Given the description of an element on the screen output the (x, y) to click on. 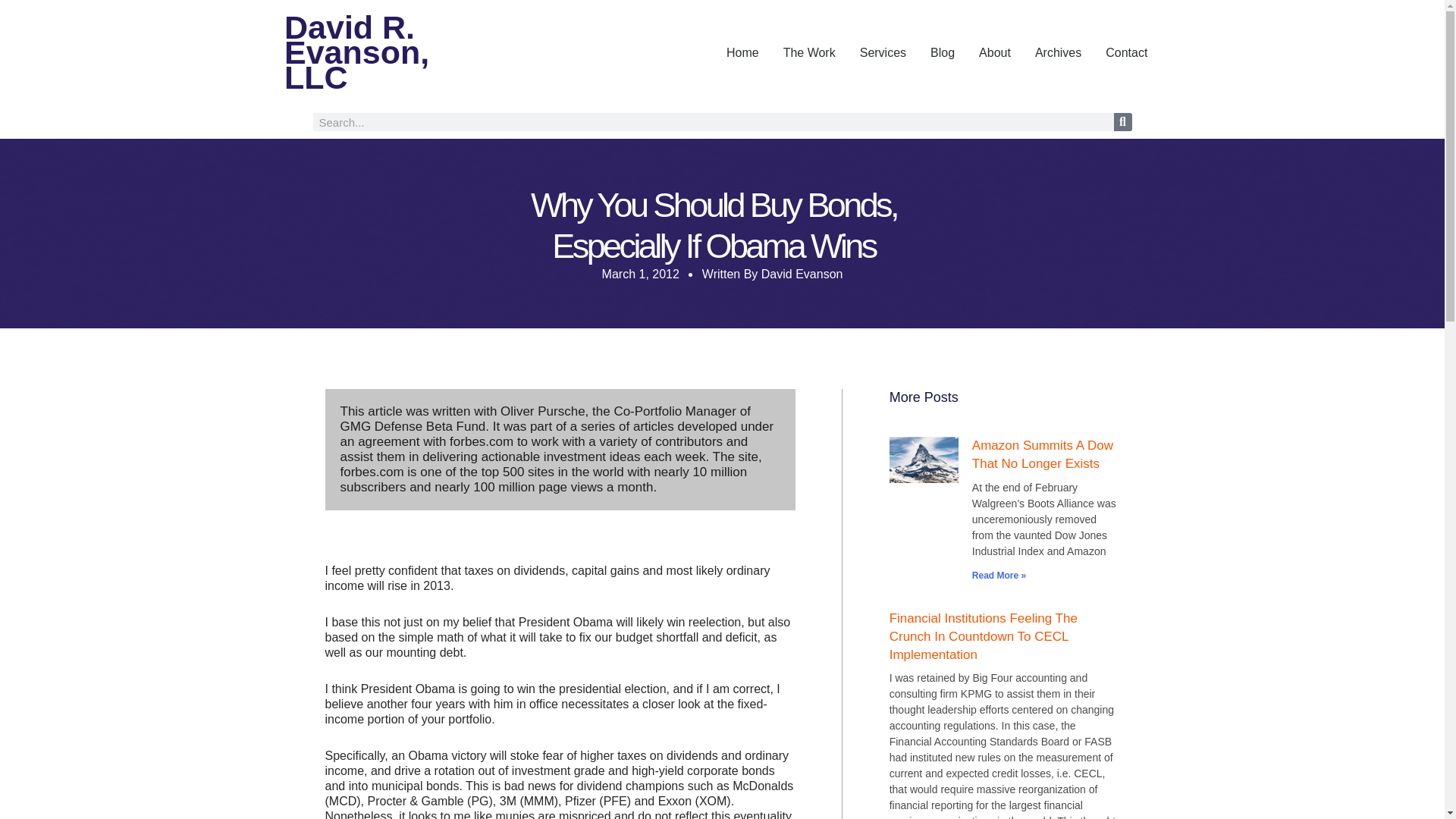
About (994, 52)
Services (882, 52)
March 1, 2012 (640, 273)
Written By David Evanson (772, 273)
Home (742, 52)
Search (1122, 122)
Archives (1058, 52)
The Work (809, 52)
Blog (942, 52)
David R. Evanson, LLC (380, 52)
Contact (1125, 52)
Amazon Summits A Dow That No Longer Exists (1042, 454)
